Given the description of an element on the screen output the (x, y) to click on. 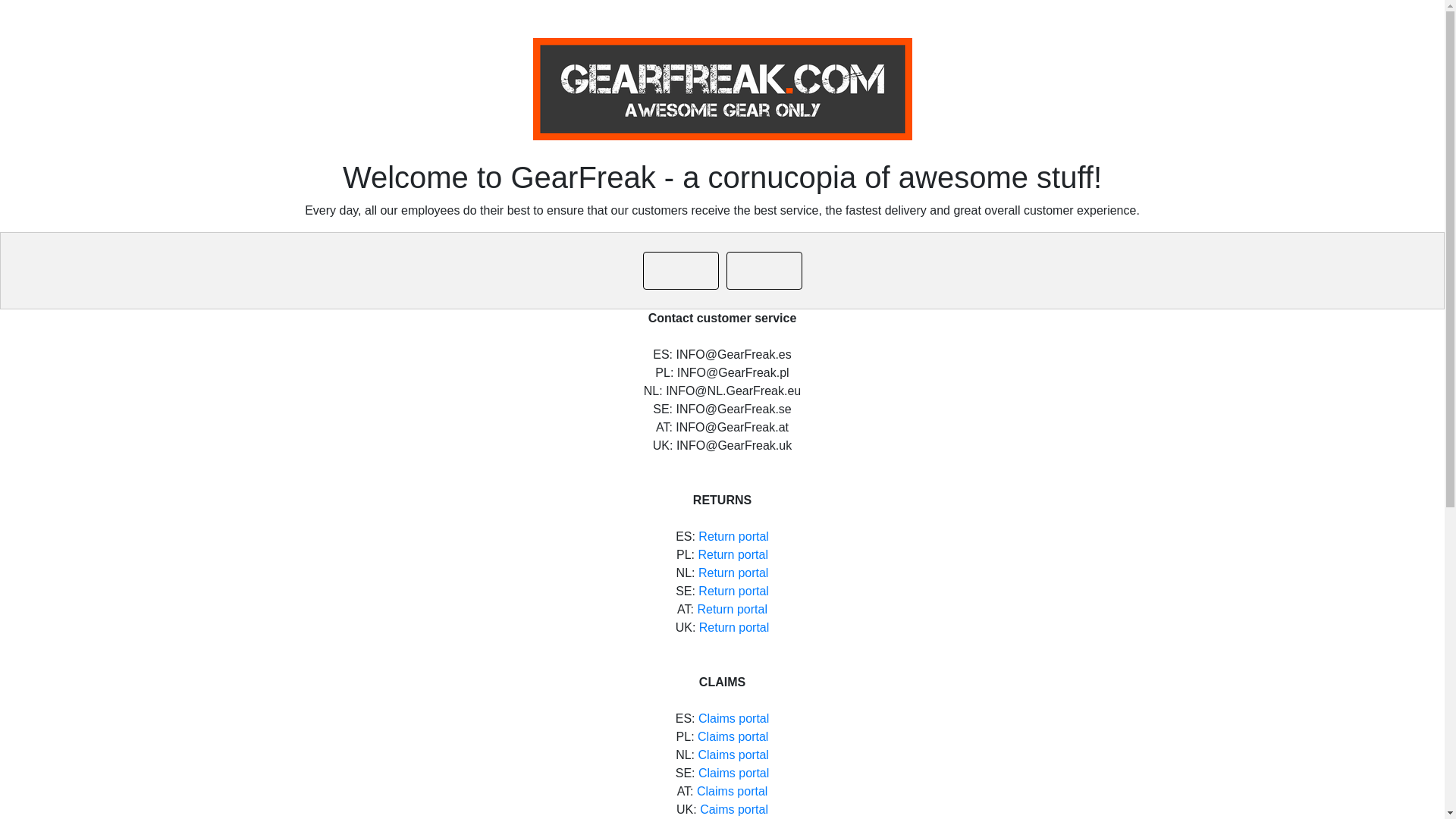
Return portal (732, 608)
Return portal (732, 554)
Claims portal (733, 772)
Caims portal (734, 809)
Claims portal (732, 736)
Claims portal (733, 717)
Return portal (734, 626)
Return portal (733, 572)
Claims portal (732, 754)
Return portal (733, 590)
